Given the description of an element on the screen output the (x, y) to click on. 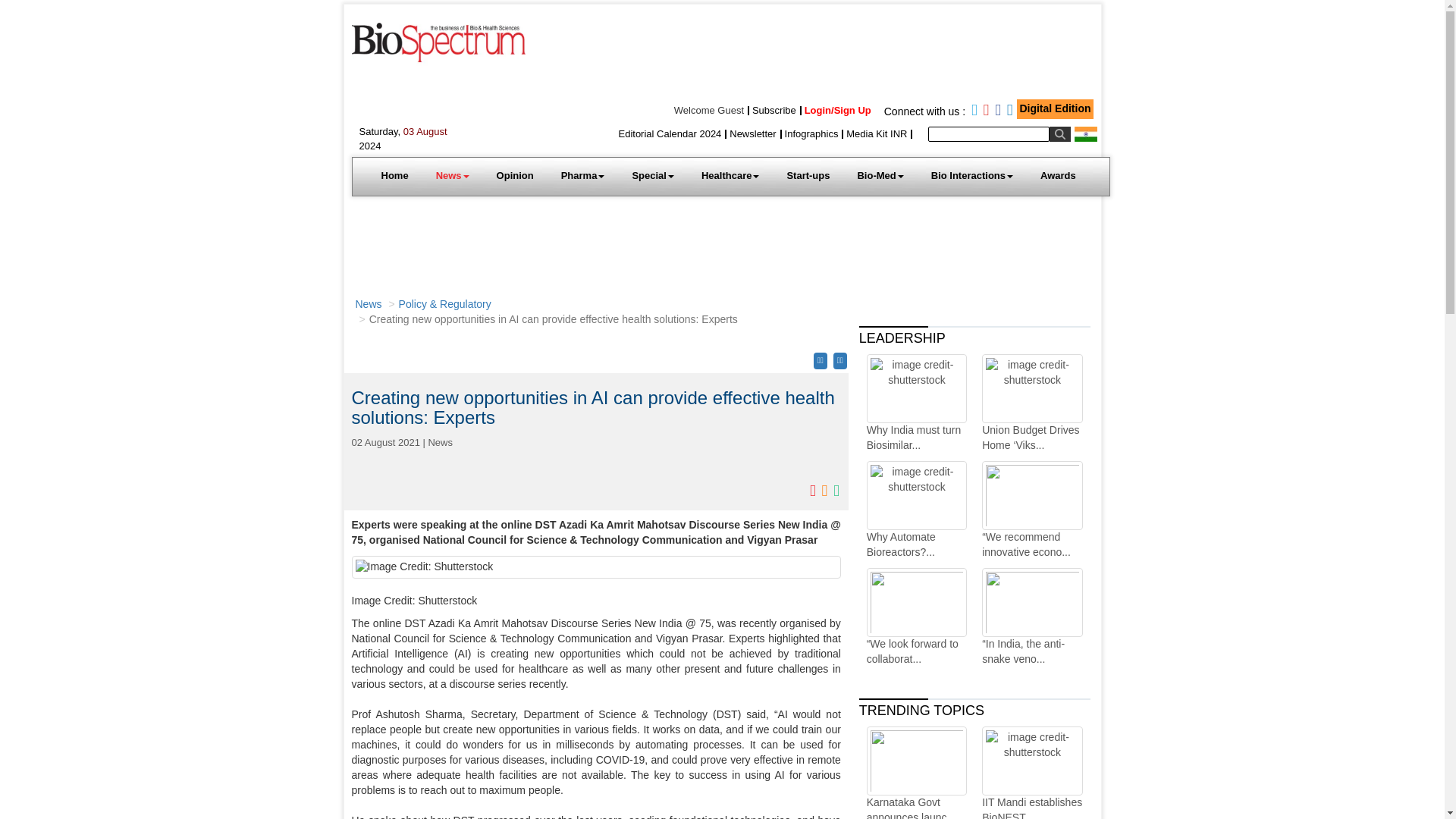
Home (394, 176)
Digital Edition (1054, 108)
Infographics (811, 133)
Pharma (582, 176)
Healthcare (730, 176)
Opinion (515, 176)
News (452, 176)
Why Automate Bioreactors? (916, 510)
Media Kit INR (876, 133)
Special (652, 176)
Newsletter (752, 133)
Why India must turn Biosimilar Powerhouse  by 2030 (916, 403)
Editorial Calendar 2024 (668, 133)
